Given the description of an element on the screen output the (x, y) to click on. 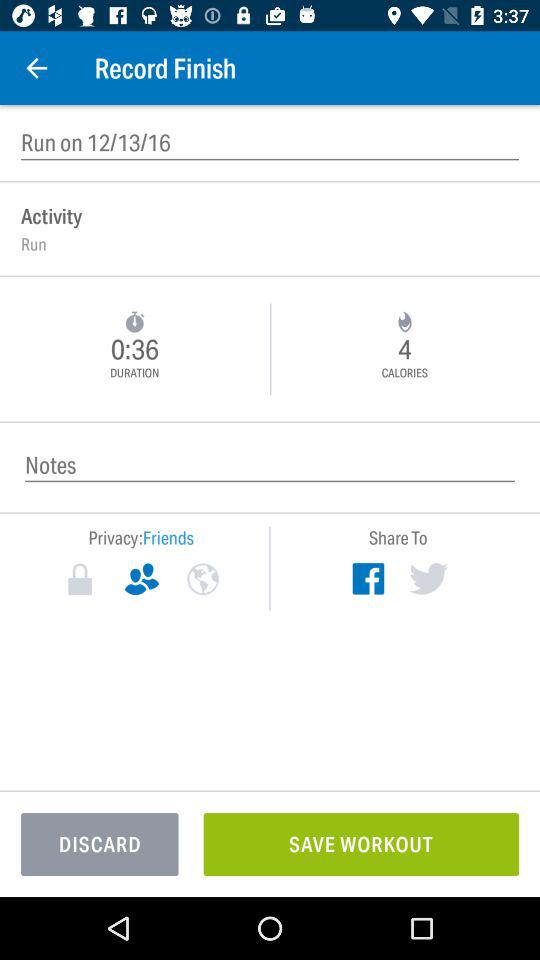
choose the item to the right of discard icon (361, 844)
